Given the description of an element on the screen output the (x, y) to click on. 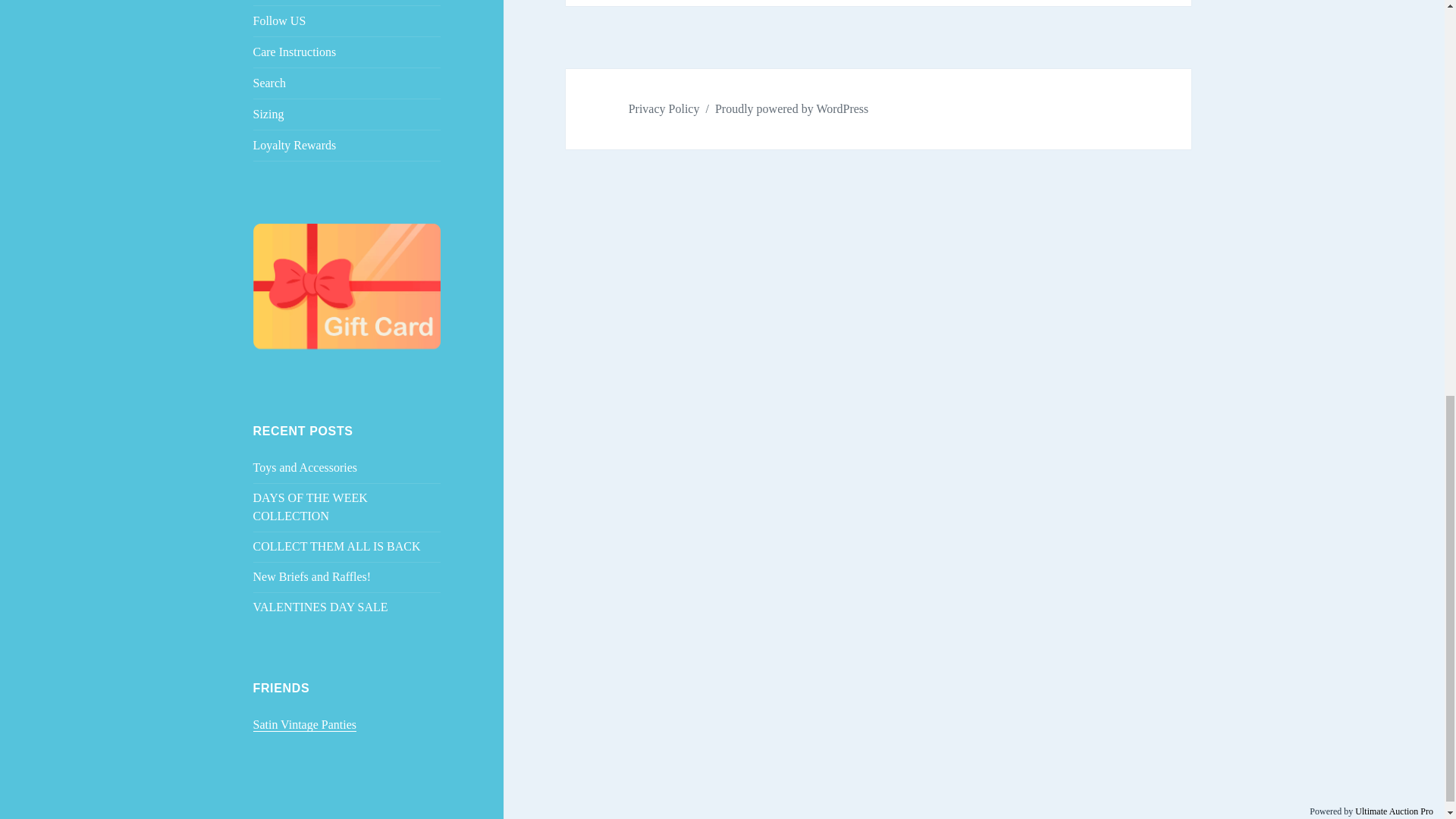
Follow US (347, 20)
Care Instructions (347, 51)
Satin Vintage Panties (304, 725)
Contact Us (347, 2)
Sizing (347, 114)
Toys and Accessories (305, 467)
COLLECT THEM ALL IS BACK (336, 545)
DAYS OF THE WEEK COLLECTION (310, 506)
VALENTINES DAY SALE (320, 606)
Search (347, 82)
Loyalty Rewards (347, 145)
New Briefs and Raffles! (312, 576)
